Given the description of an element on the screen output the (x, y) to click on. 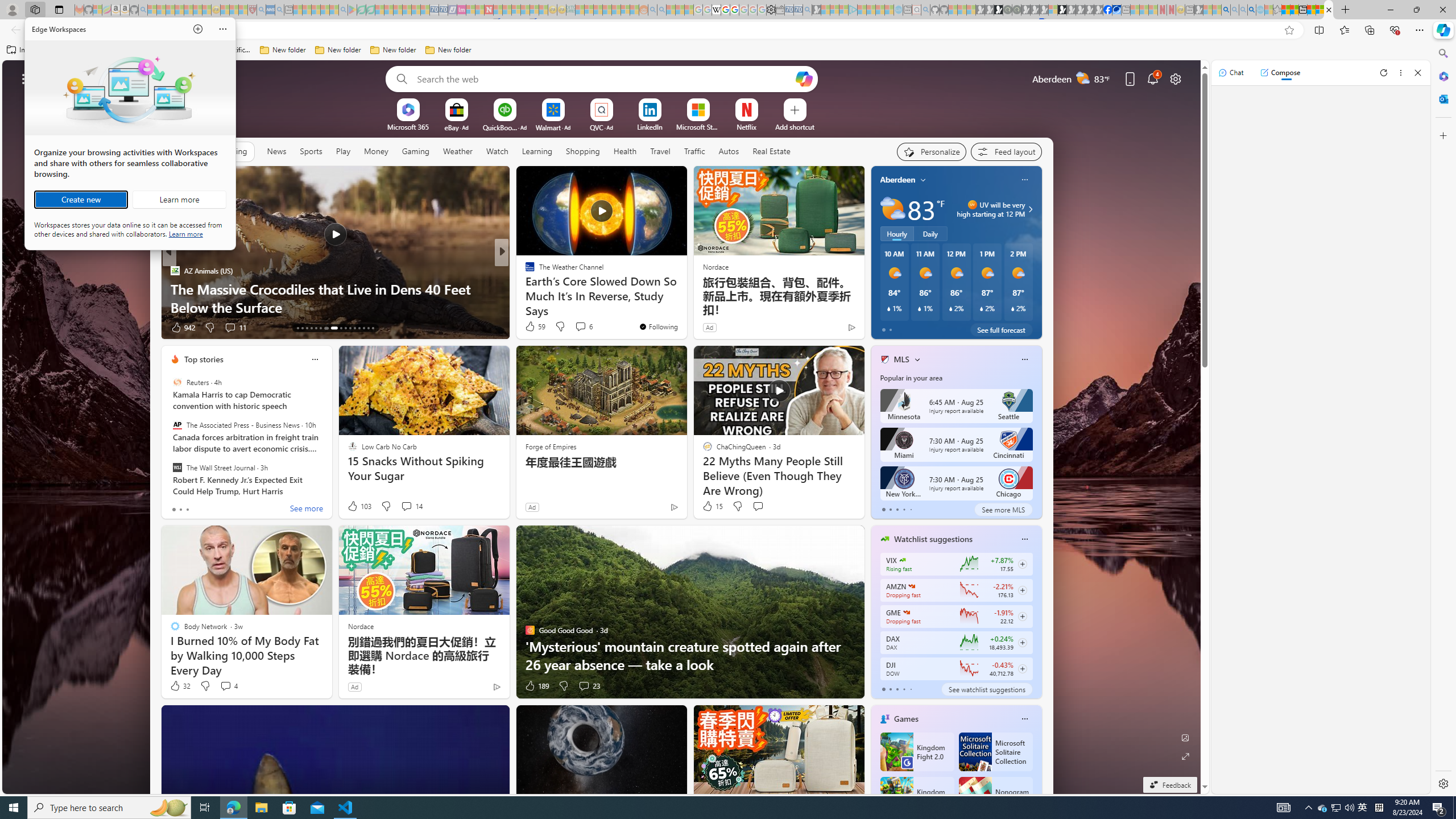
Bing Real Estate - Home sales and rental listings - Sleeping (1335, 807)
Privacy Help Center - Policies Help (806, 9)
Microsoft Edge - 1 running window (725, 9)
View comments 9 Comment (233, 807)
GAMESTOP CORP. (233, 327)
Reuters (906, 612)
Start (176, 382)
XDA Developers (13, 807)
